Given the description of an element on the screen output the (x, y) to click on. 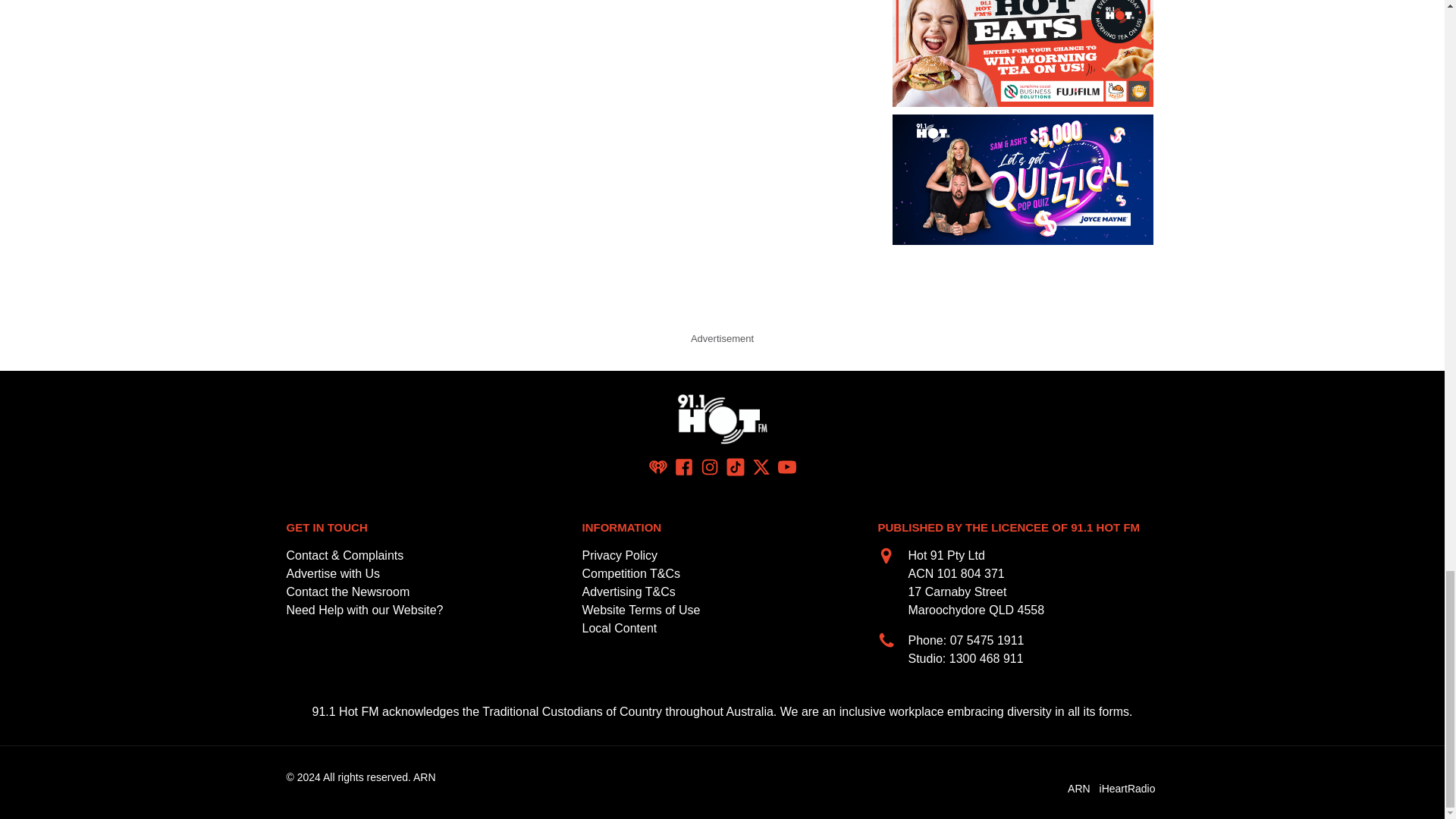
3rd party ad content (721, 292)
